Given the description of an element on the screen output the (x, y) to click on. 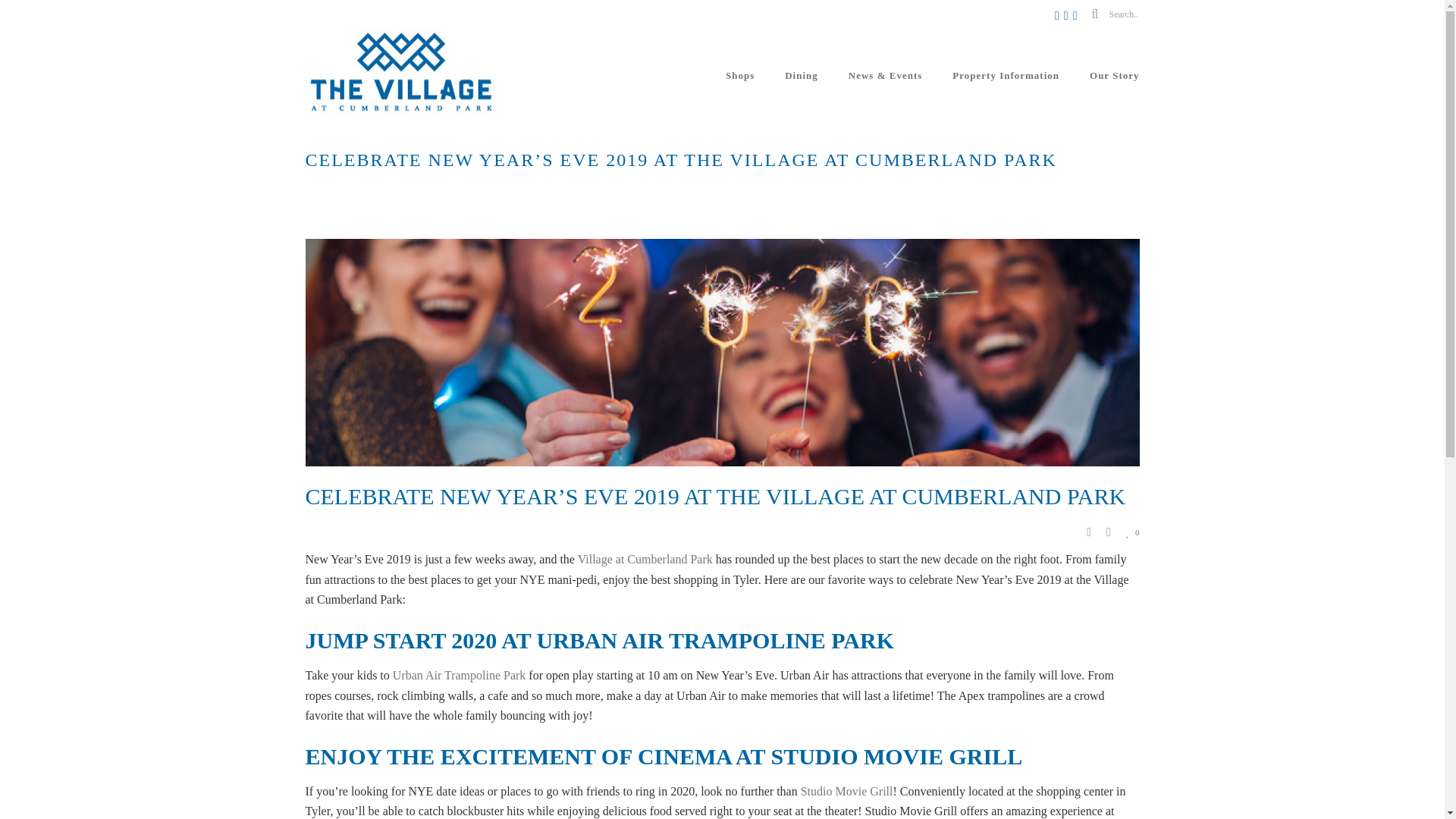
Dining (801, 76)
Property Information (1005, 76)
Urban Air Trampoline Park (459, 675)
Our Story (1114, 76)
  0 (1132, 530)
Studio Movie Grill (846, 790)
Shops (740, 76)
HOME (772, 186)
Village at Cumberland Park (645, 558)
